Given the description of an element on the screen output the (x, y) to click on. 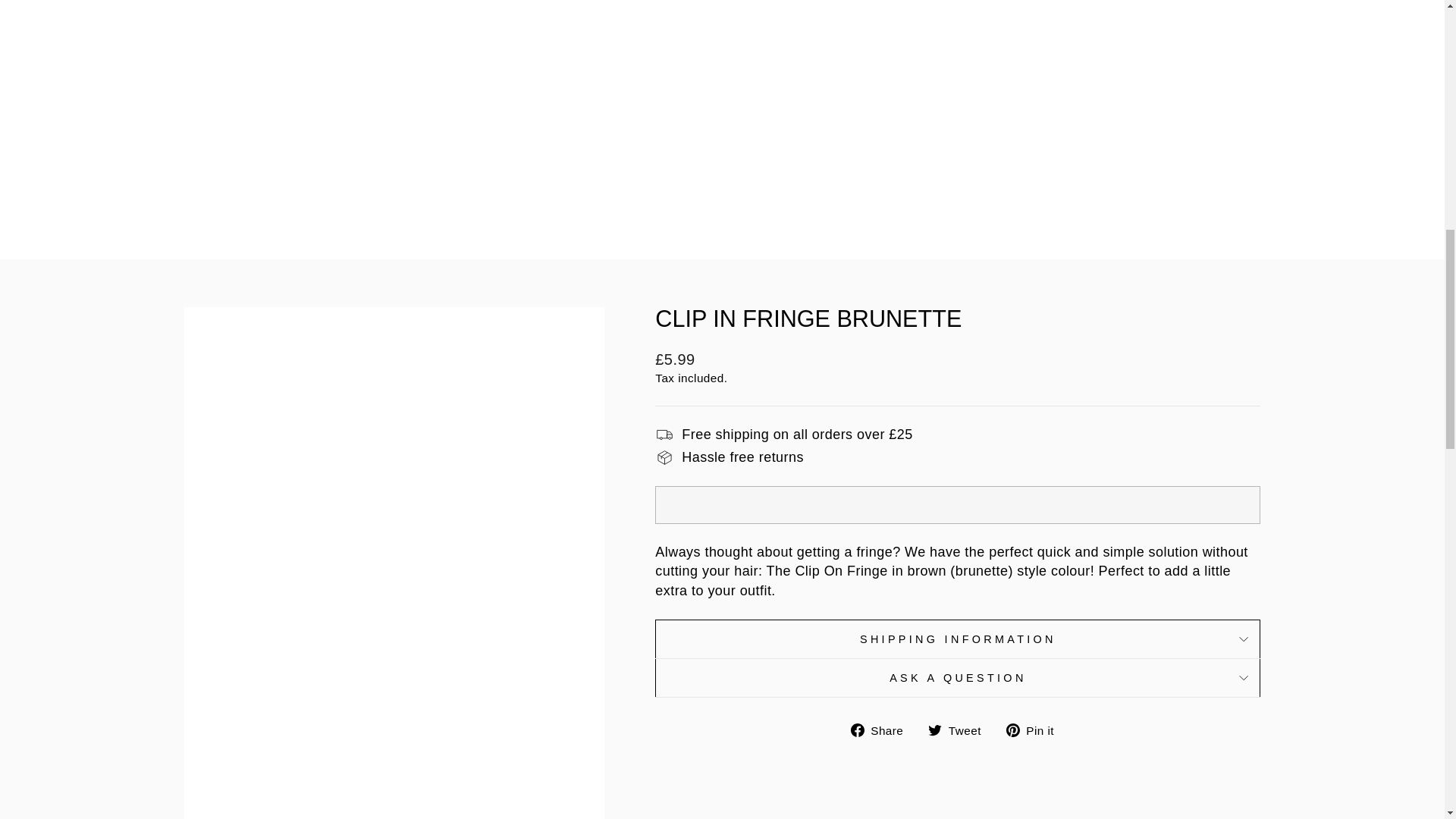
Pin on Pinterest (1035, 729)
Tweet on Twitter (960, 729)
Share on Facebook (882, 729)
